Given the description of an element on the screen output the (x, y) to click on. 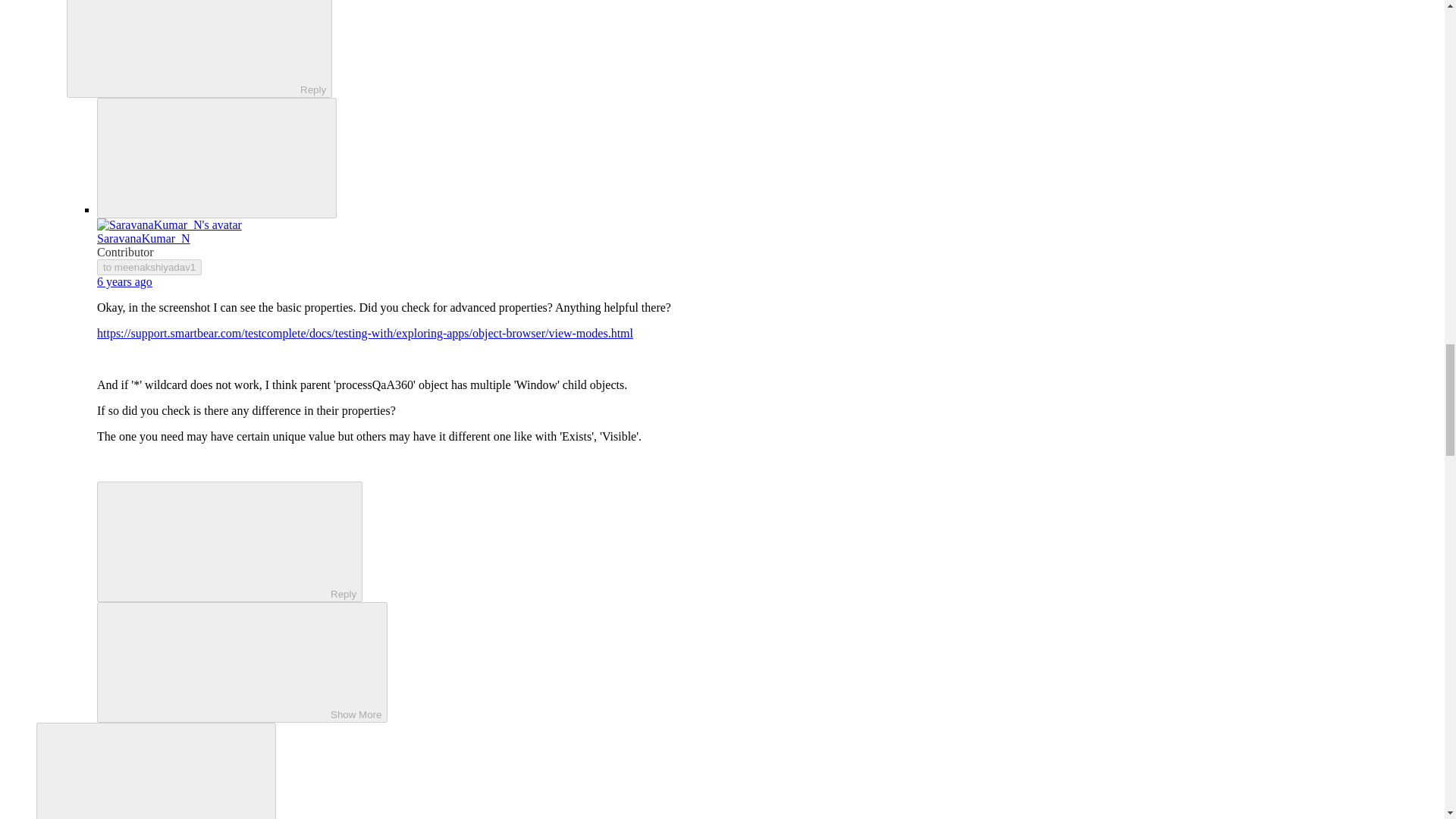
ReplyReply (198, 48)
Reply (216, 540)
Reply (185, 46)
to meenakshiyadav1 (149, 267)
November 9, 2018 at 11:24 AM (124, 281)
